Given the description of an element on the screen output the (x, y) to click on. 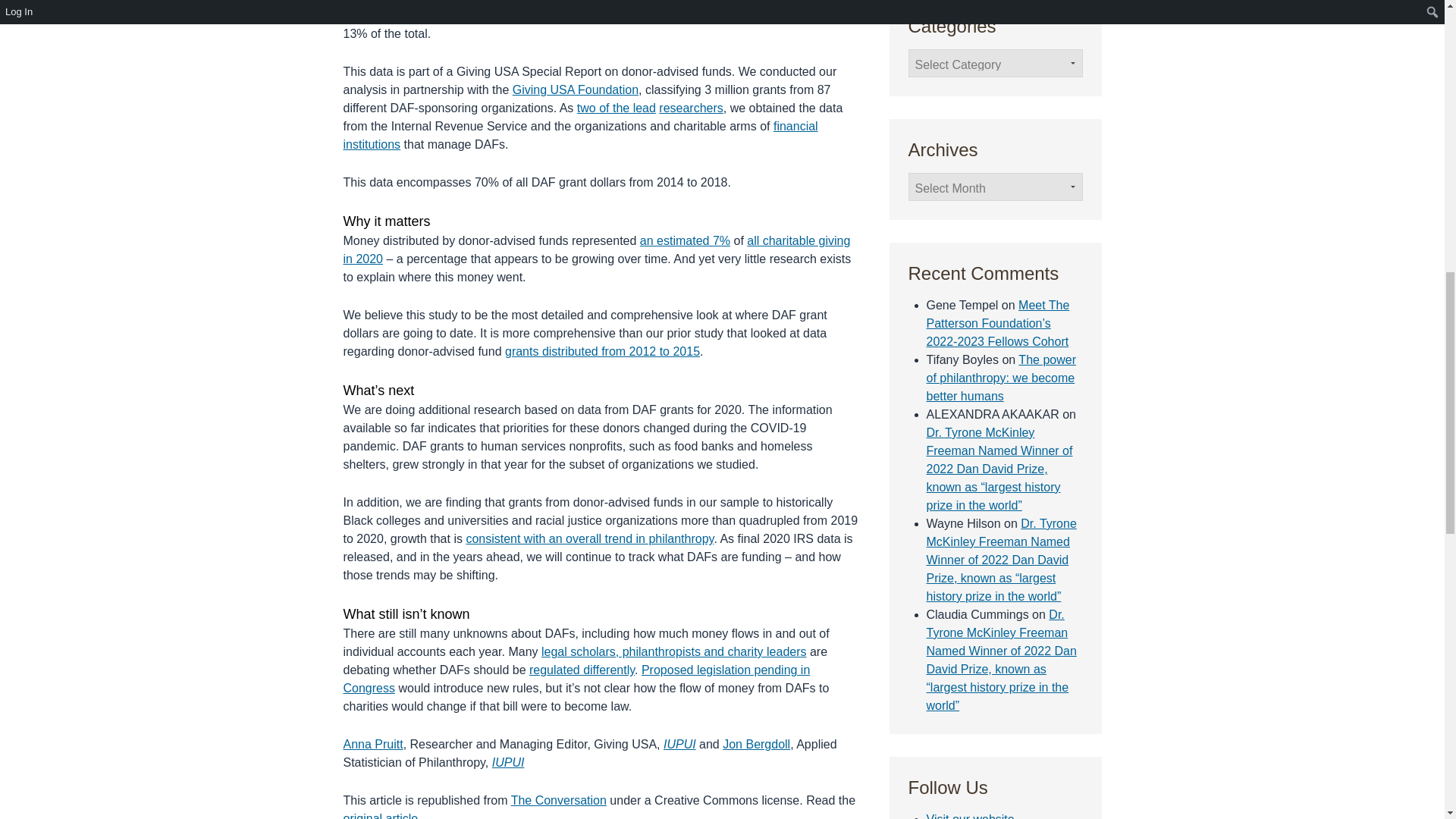
The Conversation (559, 799)
Giving USA Foundation (575, 89)
regulated differently (581, 669)
IUPUI (679, 744)
original article (379, 815)
Jon Bergdoll (756, 744)
grants distributed from 2012 to 2015 (602, 350)
legal scholars, philanthropists and charity leaders (673, 651)
consistent with an overall trend in philanthropy (589, 538)
IUPUI (508, 762)
researchers (690, 107)
financial institutions (579, 134)
Proposed legislation pending in Congress (575, 678)
two of the lead (616, 107)
all charitable giving in 2020 (596, 249)
